Given the description of an element on the screen output the (x, y) to click on. 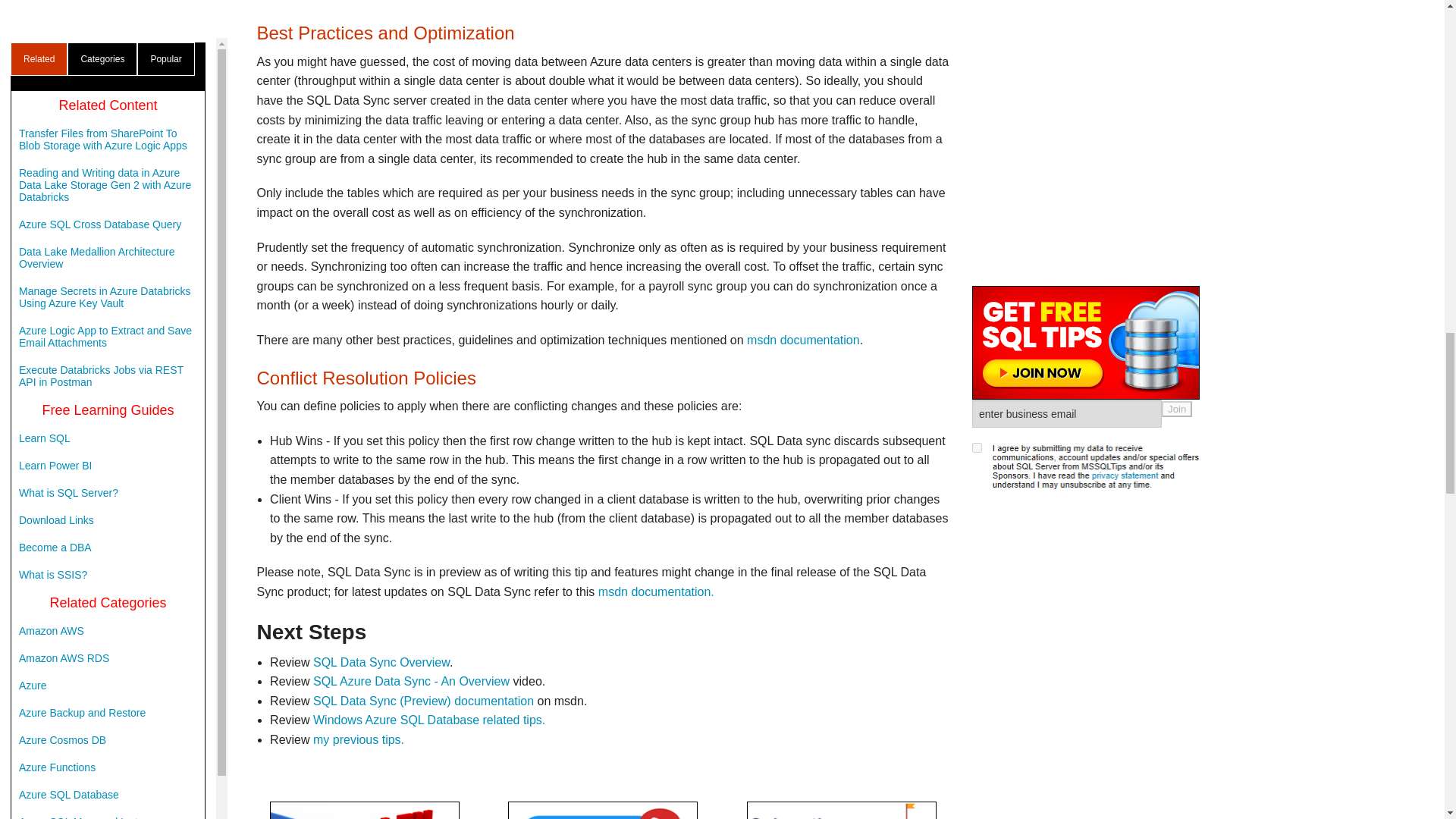
1 (976, 94)
enter business email (1066, 60)
Join (1176, 56)
